Given the description of an element on the screen output the (x, y) to click on. 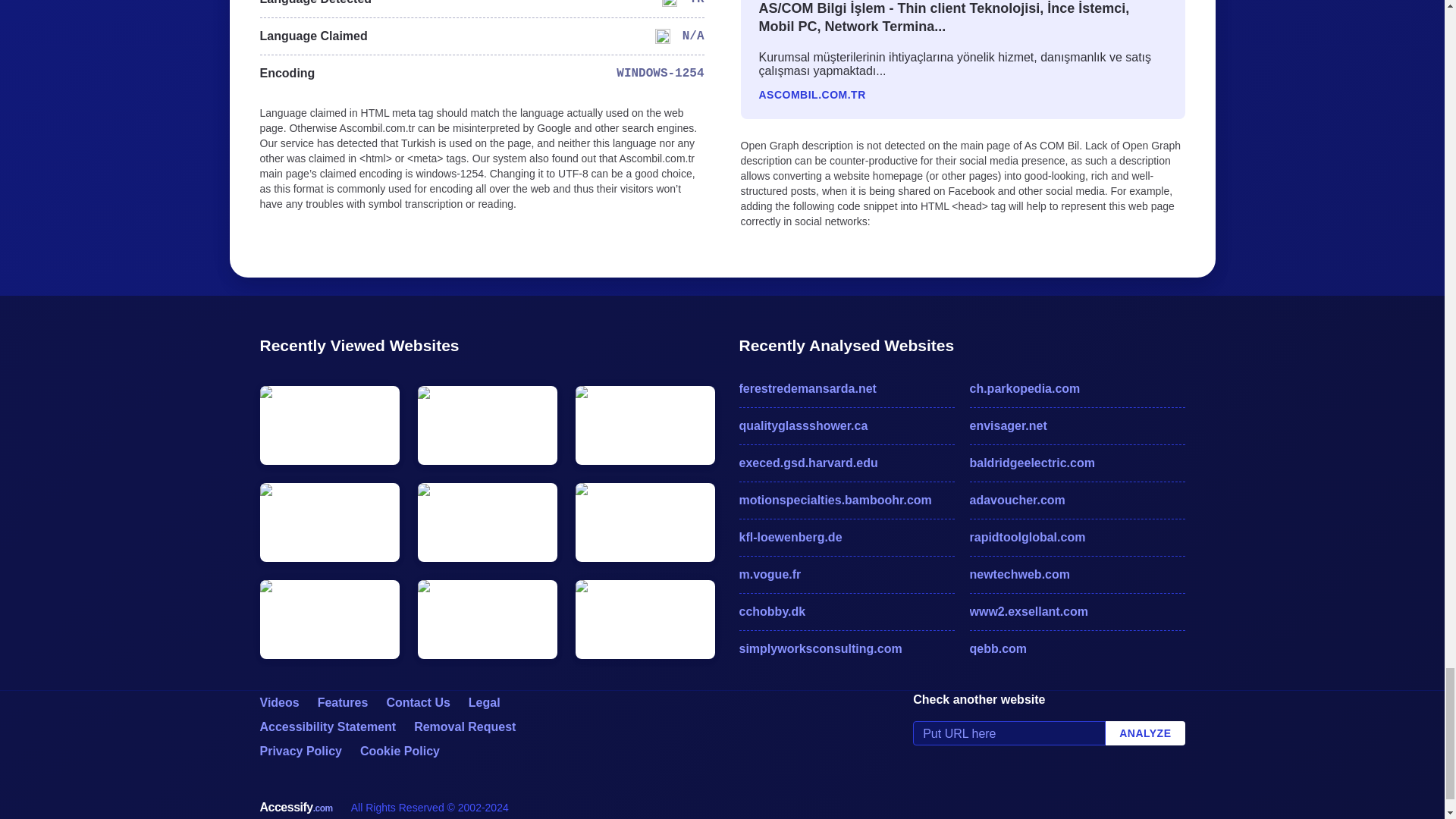
Screencasts: video tutorials and guides (278, 702)
qualityglassshower.ca (845, 425)
Features (342, 702)
qebb.com (1077, 648)
ch.parkopedia.com (1077, 389)
ferestredemansarda.net (845, 389)
m.vogue.fr (845, 574)
simplyworksconsulting.com (845, 648)
baldridgeelectric.com (1077, 463)
www2.exsellant.com (1077, 611)
